Given the description of an element on the screen output the (x, y) to click on. 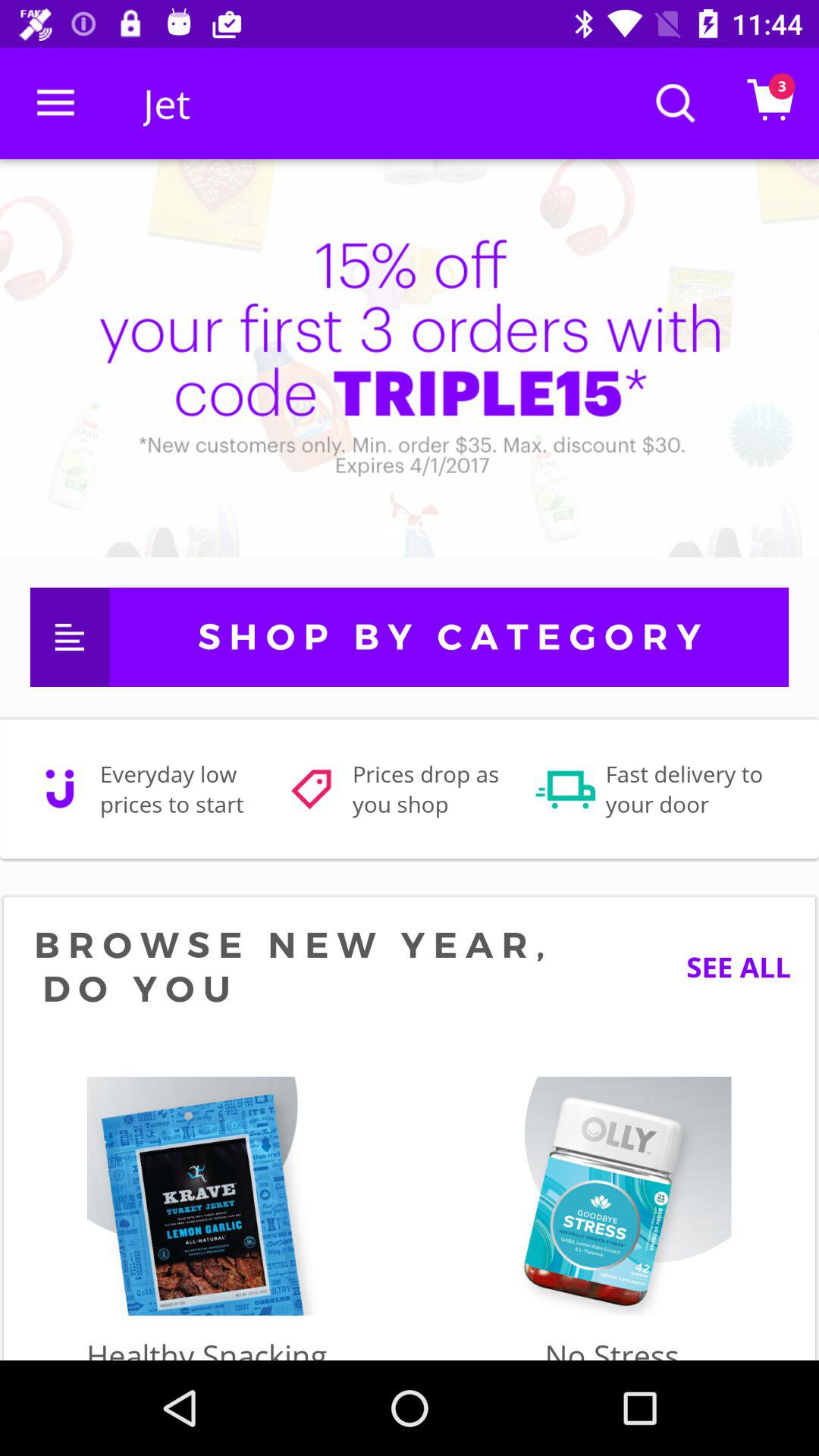
flip to the see all (727, 966)
